Given the description of an element on the screen output the (x, y) to click on. 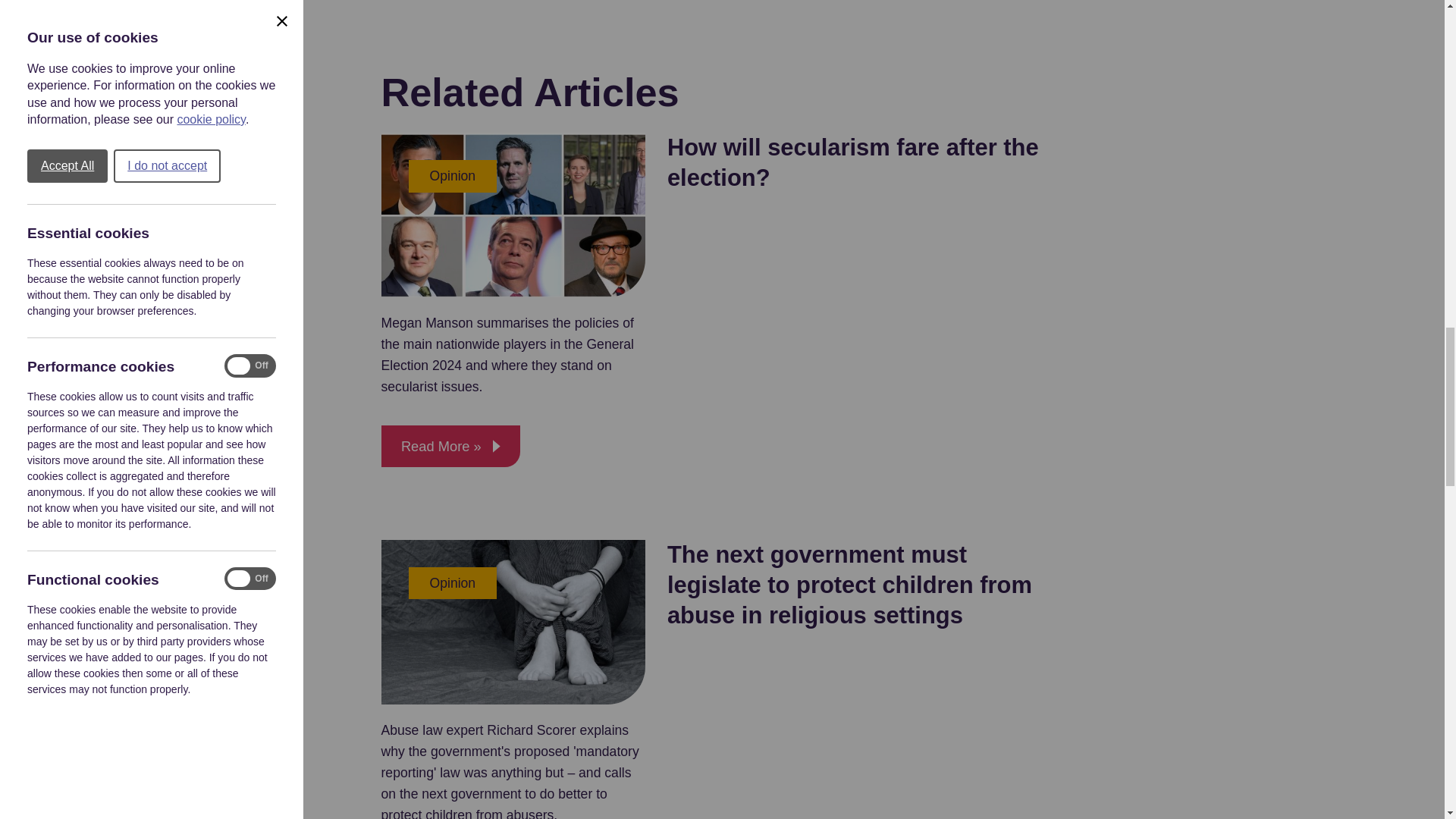
How will secularism fare after the election? (852, 162)
Read More: How will secularism fare after the election? (449, 446)
